Given the description of an element on the screen output the (x, y) to click on. 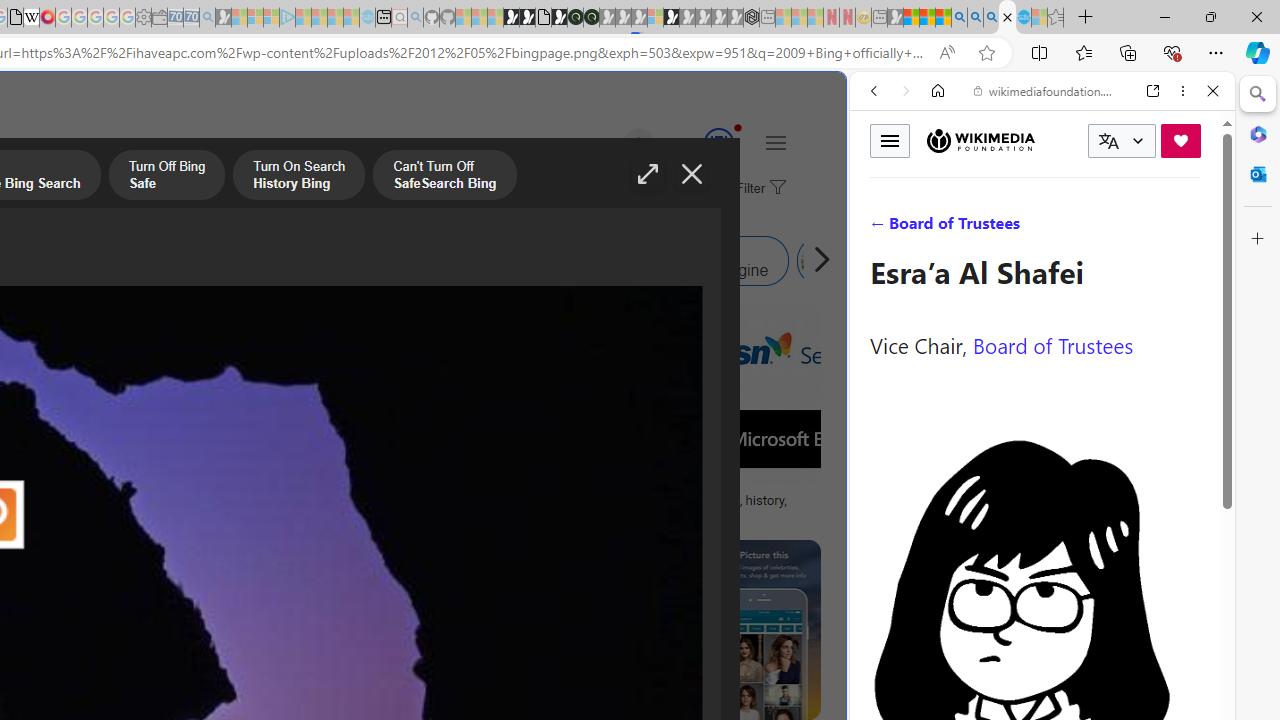
Class: item col (890, 260)
Full screen (648, 173)
Play Cave FRVR in your browser | Games from Microsoft Start (343, 426)
Search or enter web address (343, 191)
Owner of Bing Search Engine (597, 260)
Settings - Sleeping (143, 17)
Microsoft Start - Sleeping (335, 17)
Wiktionary (1034, 669)
Future Focus Report 2024 (591, 17)
